Given the description of an element on the screen output the (x, y) to click on. 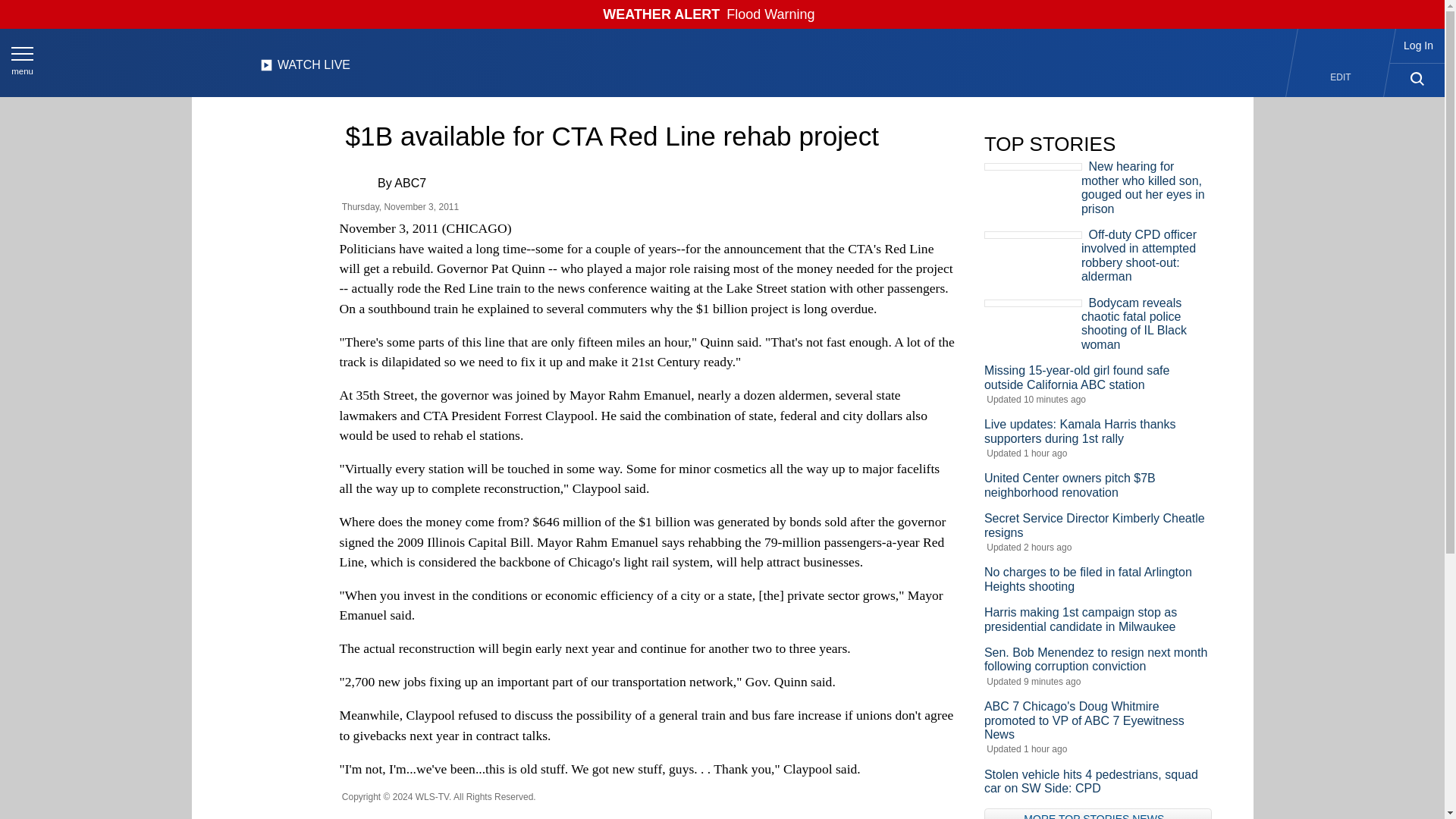
WATCH LIVE (305, 69)
EDIT (1340, 77)
